Given the description of an element on the screen output the (x, y) to click on. 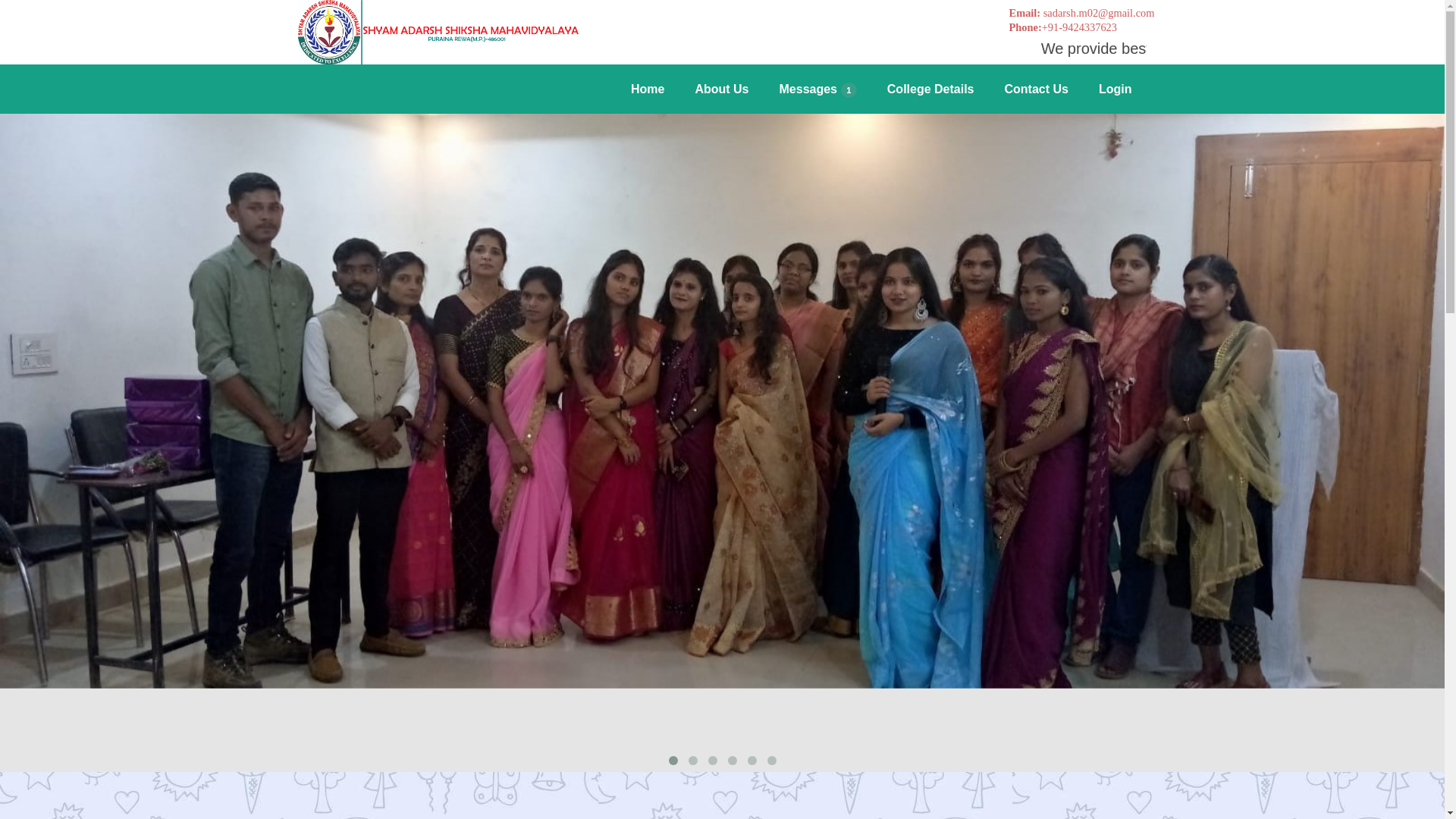
Contact Us (1035, 89)
Login (1115, 89)
About Us (720, 89)
Home (647, 89)
Messages 1 (818, 89)
College Details (931, 89)
